Given the description of an element on the screen output the (x, y) to click on. 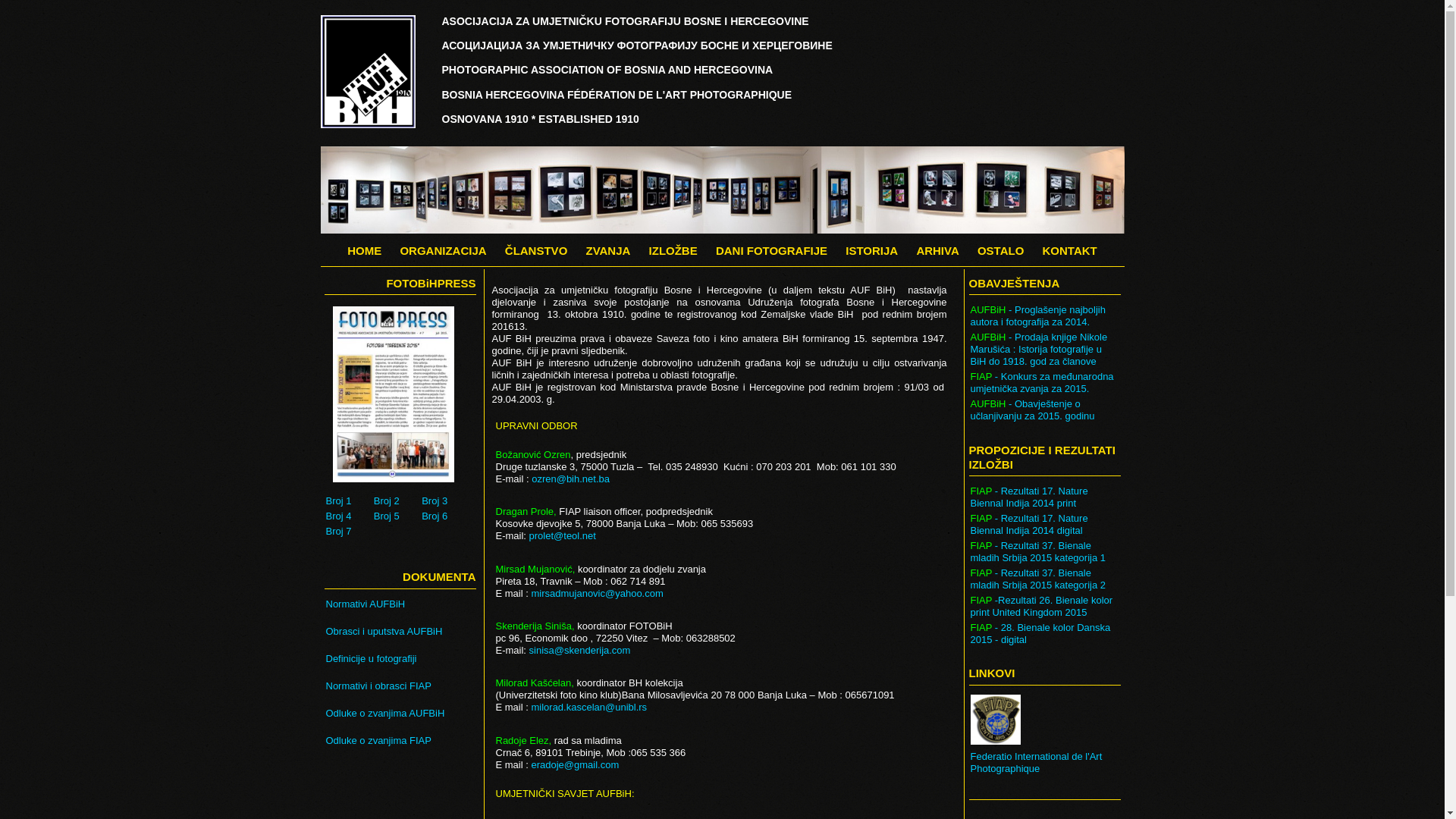
Normativi i obrasci FIAP Element type: text (402, 685)
ISTORIJA Element type: text (871, 250)
sinisa@skenderija.com Element type: text (579, 649)
FIAP - Rezultati 37. Bienale mladih Srbija 2015 kategorija 2 Element type: text (1044, 579)
FIAP - Rezultati 37. Bienale mladih Srbija 2015 kategorija 1 Element type: text (1044, 551)
mirsadmujanovic@yahoo.com Element type: text (596, 593)
Definicije u fotografiji Element type: text (402, 658)
OSTALO Element type: text (1000, 250)
FIAP - 28. Bienale kolor Danska 2015 - digital Element type: text (1044, 633)
Broj 2 Element type: text (394, 500)
FIAP -Rezultati 26. Bienale kolor print United Kingdom 2015 Element type: text (1044, 606)
Normativi AUFBiH Element type: text (402, 603)
eradoje@gmail.com Element type: text (574, 764)
Broj 5 Element type: text (394, 516)
DANI FOTOGRAFIJE Element type: text (771, 250)
Odluke o zvanjima AUFBiH Element type: text (402, 713)
FIAP - Rezultati 17. Nature Biennal Indija 2014 print Element type: text (1044, 497)
ORGANIZACIJA Element type: text (442, 250)
Odluke o zvanjima FIAP Element type: text (402, 740)
Obrasci i uputstva AUFBiH Element type: text (402, 631)
Broj 3 Element type: text (442, 500)
prolet@teol.net Element type: text (562, 535)
ARHIVA Element type: text (937, 250)
Broj 4 Element type: text (346, 516)
FIAP - Rezultati 17. Nature Biennal Indija 2014 digital Element type: text (1044, 524)
ZVANJA Element type: text (607, 250)
Broj 7 Element type: text (346, 531)
ozren@bih.net.ba Element type: text (570, 478)
Broj 6 Element type: text (442, 516)
Federatio International de l'Art Photographique Element type: text (1044, 762)
HOME Element type: text (364, 250)
KONTAKT Element type: text (1068, 250)
milorad.kascelan@unibl.rs Element type: text (588, 706)
Broj 1 Element type: text (346, 500)
